Given the description of an element on the screen output the (x, y) to click on. 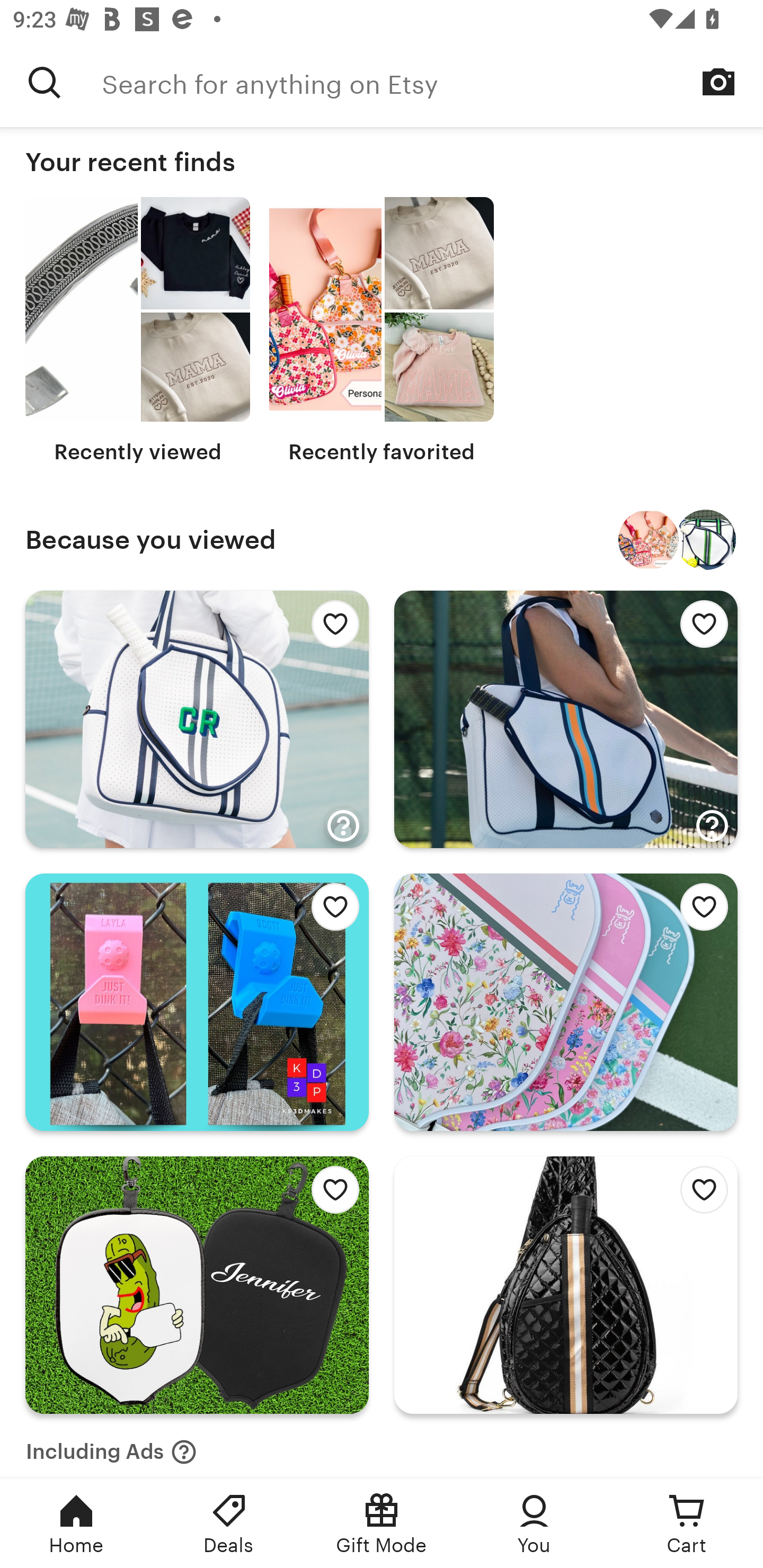
Search for anything on Etsy (44, 82)
Search by image (718, 81)
Search for anything on Etsy (432, 82)
Recently viewed (137, 330)
Recently favorited (381, 330)
Add Flower Preppy Pickleball Paddle to favorites (699, 911)
Add MS Pickle Paddle Cover to favorites (330, 1194)
Including Ads (111, 1446)
Deals (228, 1523)
Gift Mode (381, 1523)
You (533, 1523)
Cart (686, 1523)
